Given the description of an element on the screen output the (x, y) to click on. 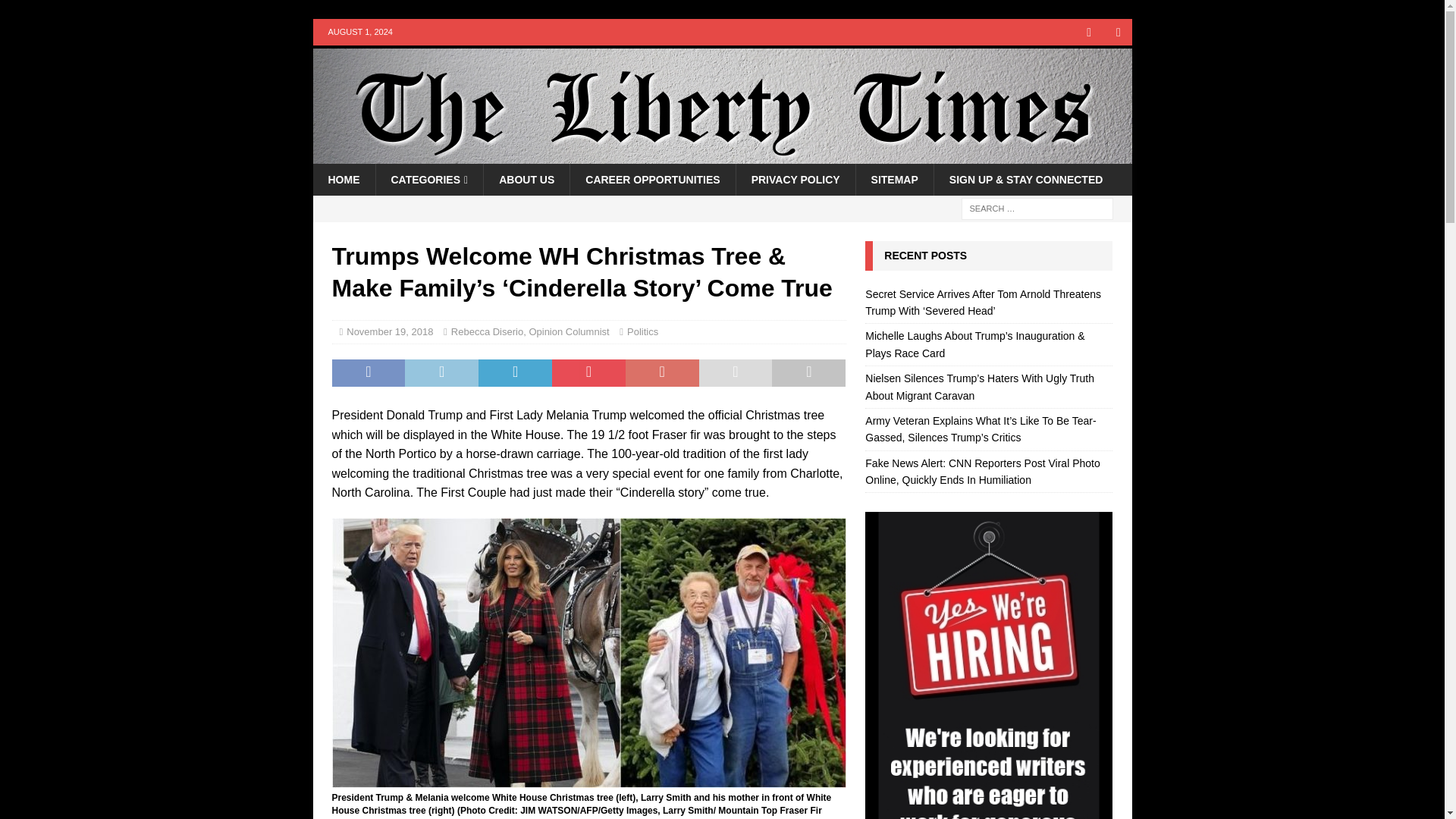
The Liberty Times (722, 155)
CAREER OPPORTUNITIES (652, 179)
Rebecca Diserio, Opinion Columnist (530, 331)
Search (56, 11)
CATEGORIES (428, 179)
HOME (343, 179)
PRIVACY POLICY (795, 179)
ABOUT US (526, 179)
Politics (642, 331)
SITEMAP (894, 179)
